Given the description of an element on the screen output the (x, y) to click on. 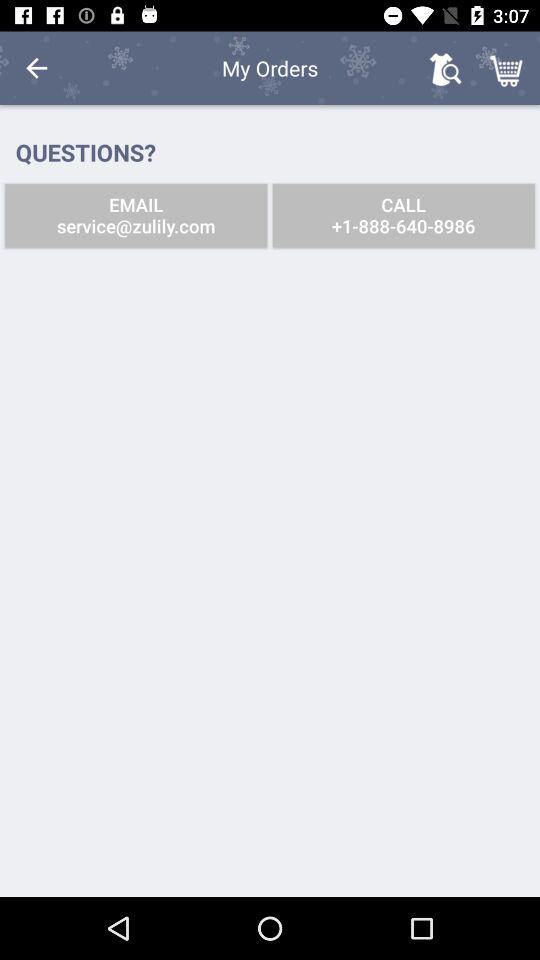
launch icon to the left of call 1 888 icon (136, 215)
